Given the description of an element on the screen output the (x, y) to click on. 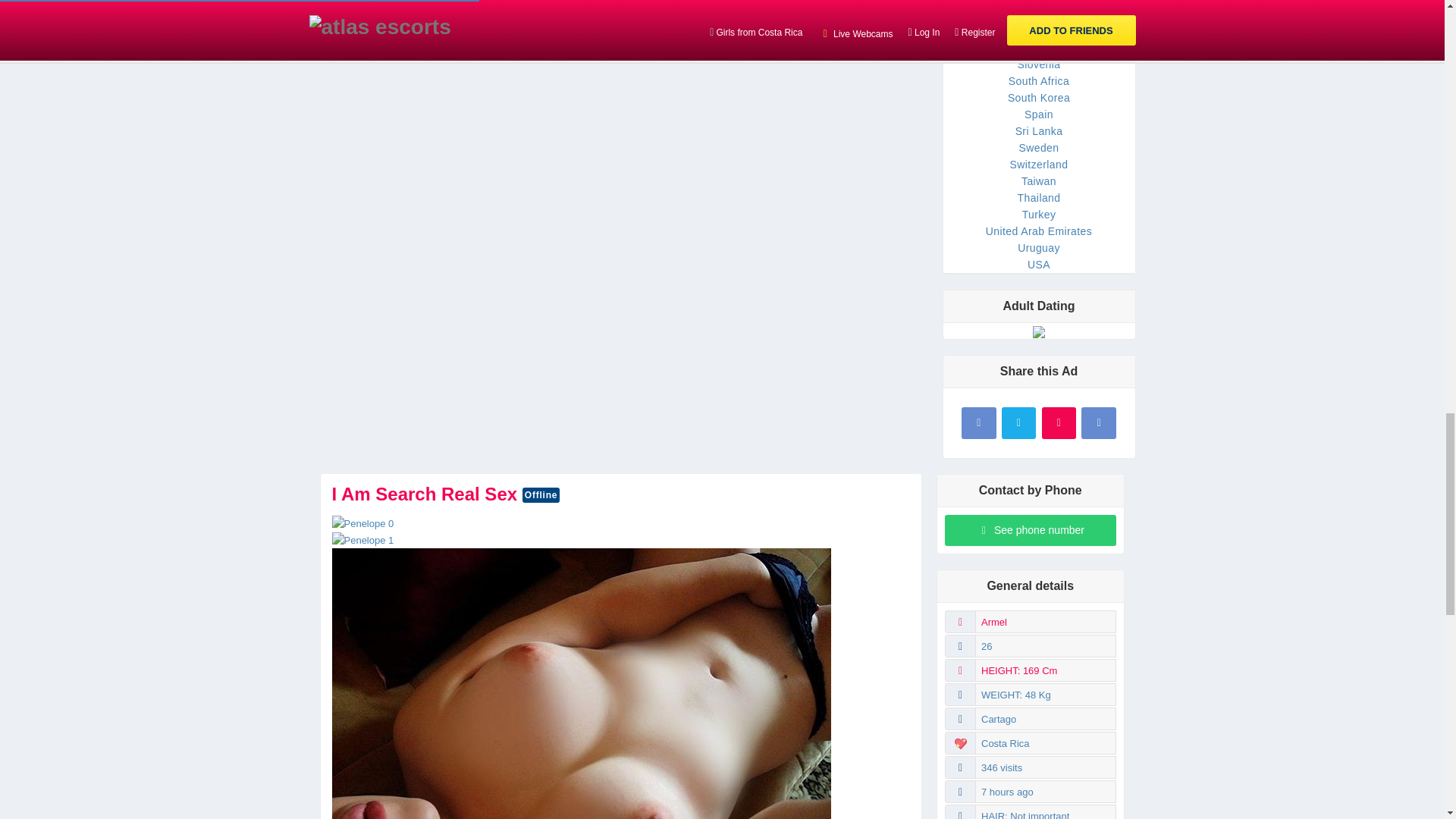
Wanting dating (362, 522)
I am seeking nsa (362, 539)
